Given the description of an element on the screen output the (x, y) to click on. 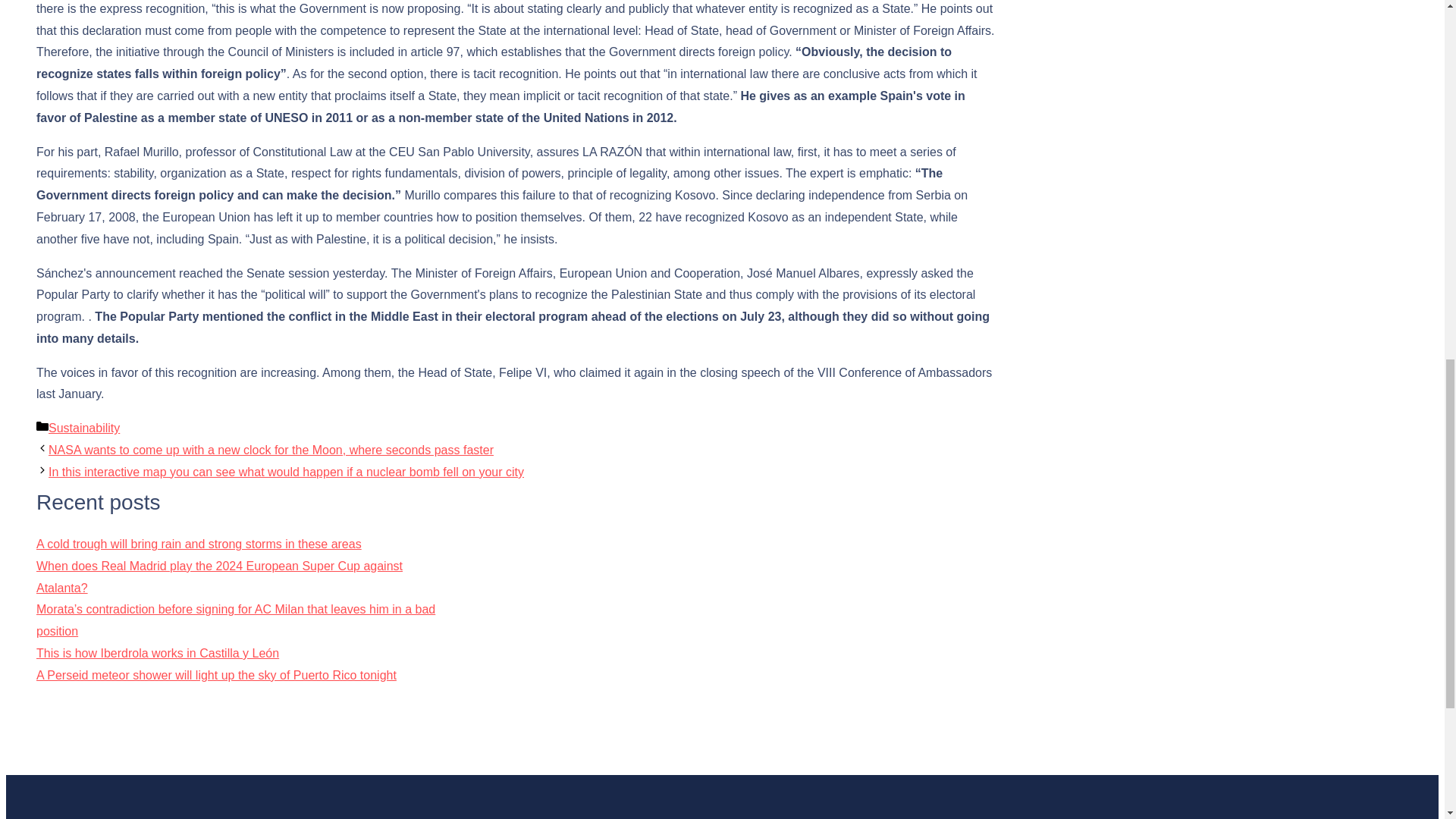
Sustainability (83, 427)
